Given the description of an element on the screen output the (x, y) to click on. 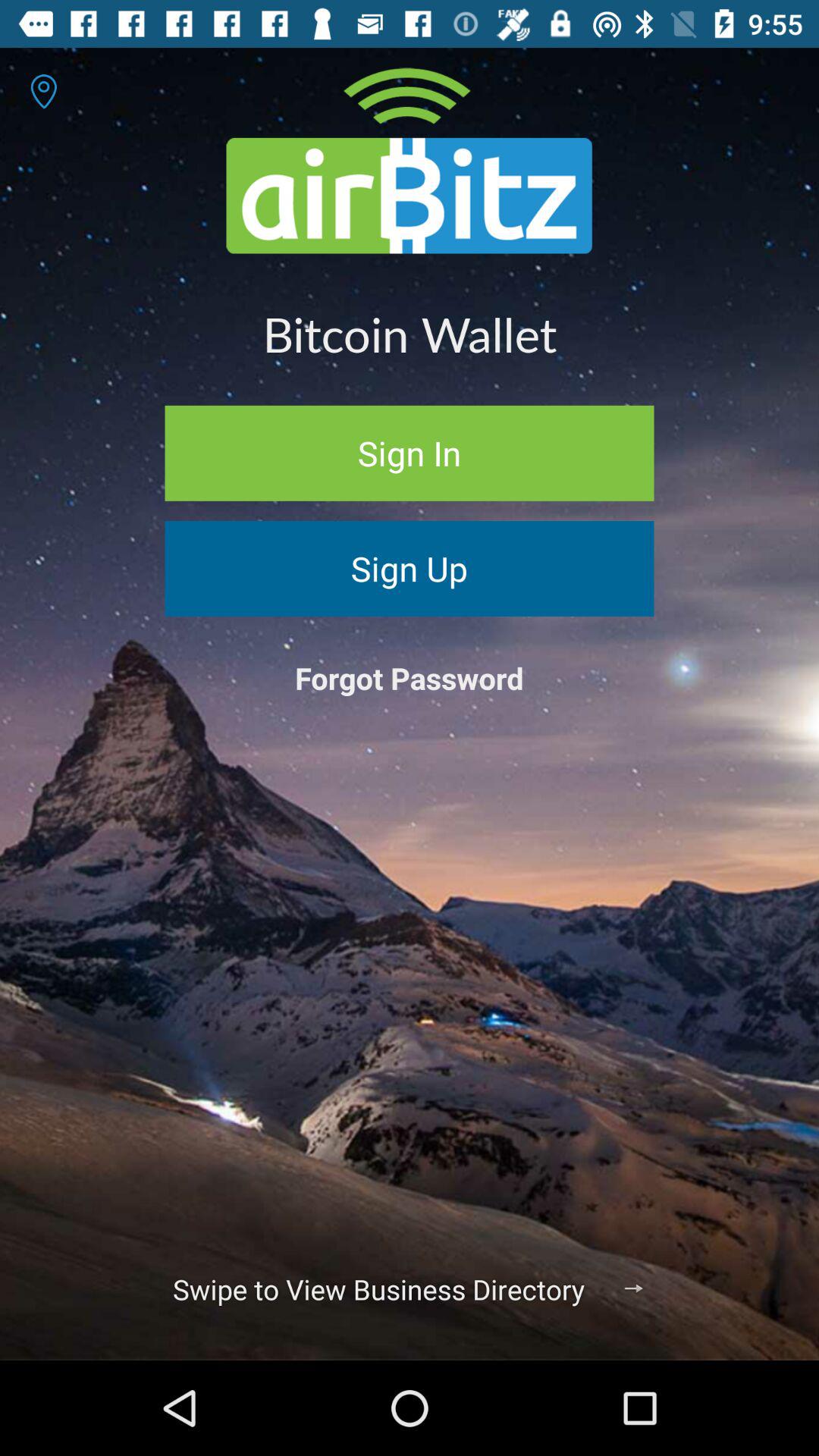
swipe to sign in icon (409, 453)
